Given the description of an element on the screen output the (x, y) to click on. 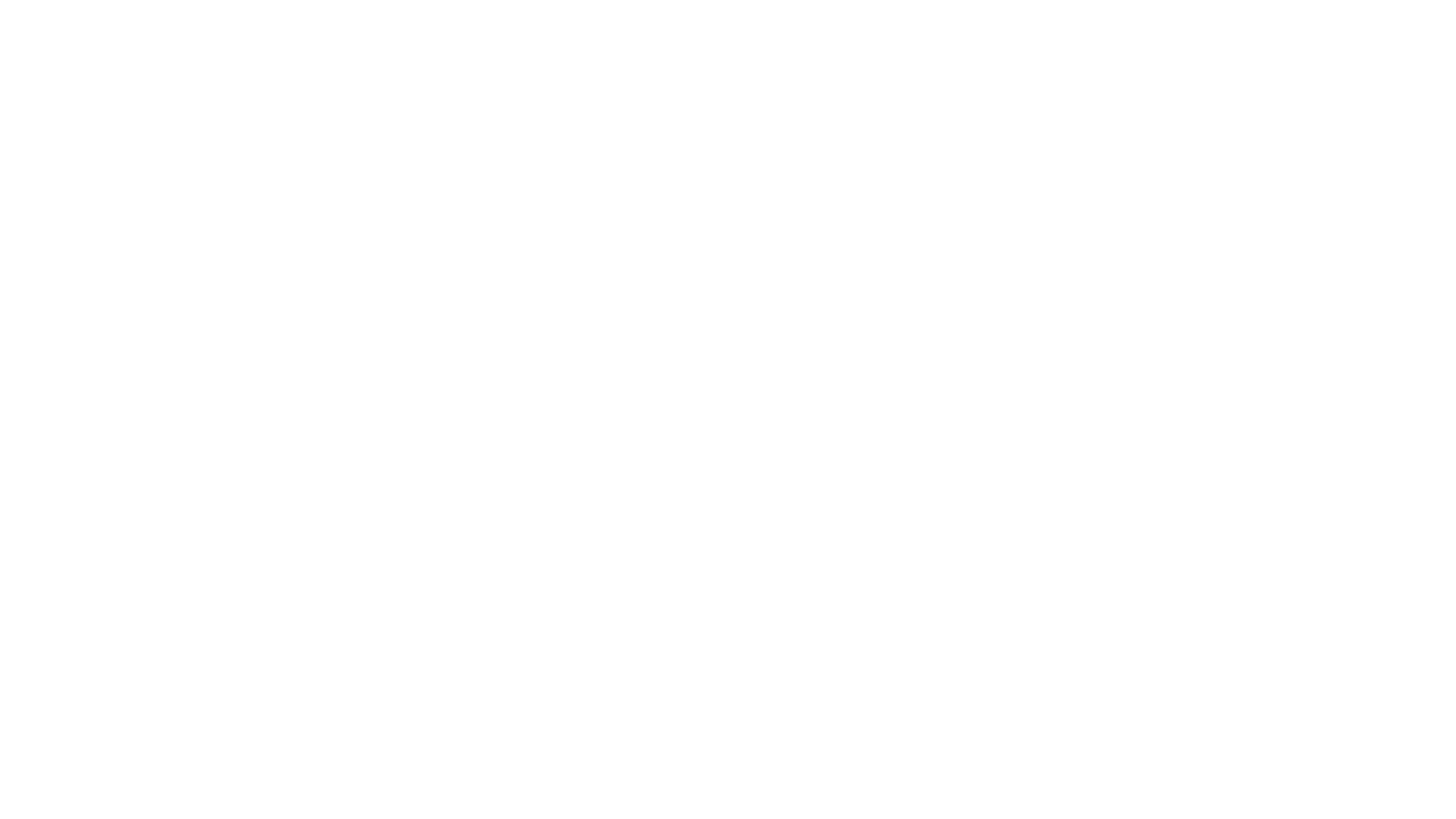
PORNO.BABY Element type: text (649, 25)
Seks video Element type: text (814, 25)
PORNO.BABY Element type: text (342, 23)
PORNO.BABY Element type: text (476, 765)
Search videos Element type: hover (1128, 25)
